Given the description of an element on the screen output the (x, y) to click on. 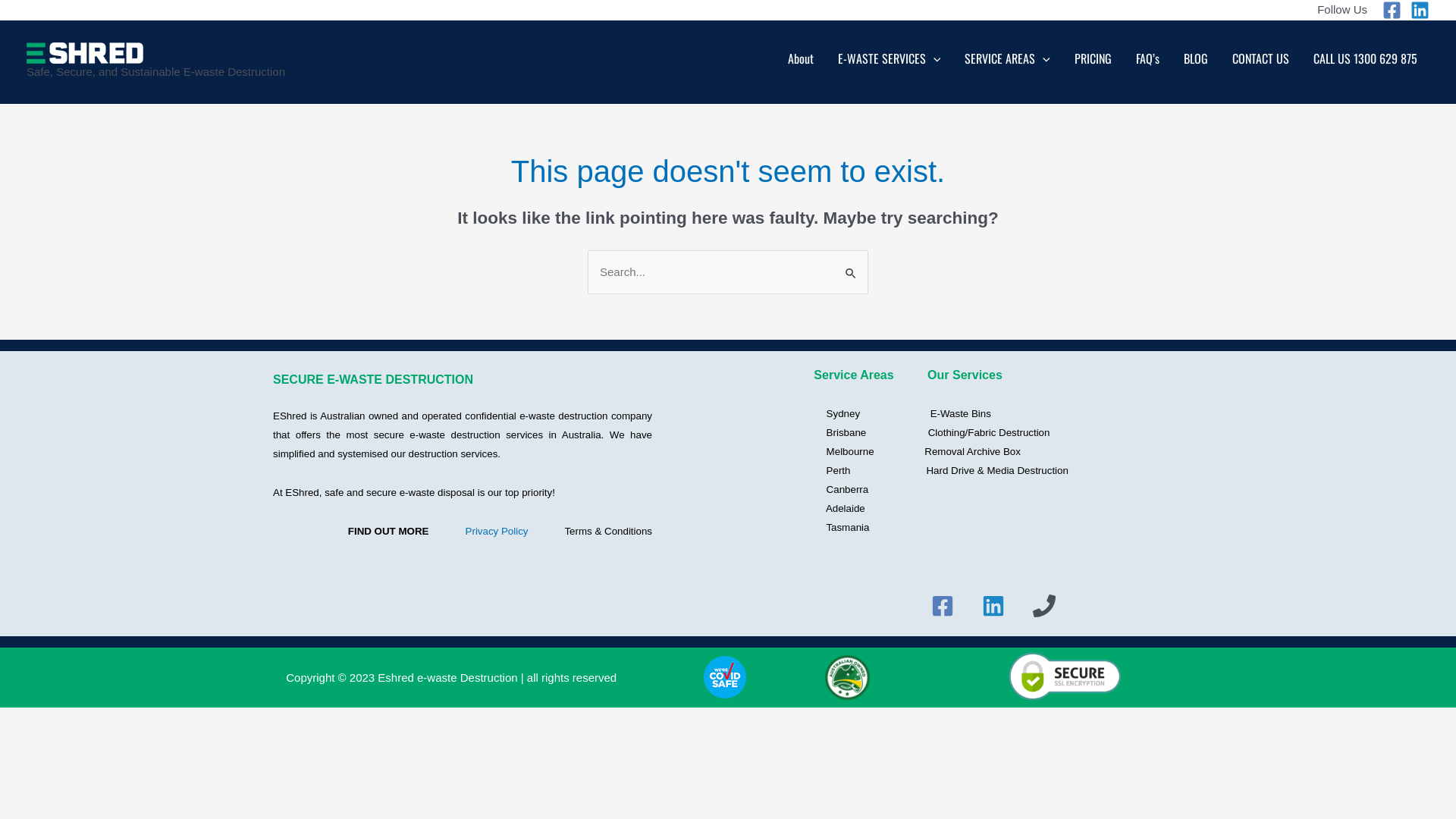
        Adelaide  Element type: text (835, 508)
E-WASTE SERVICES Element type: text (889, 61)
Hard Drive & Media Destruction Element type: text (996, 470)
        Tasmania Element type: text (836, 527)
E-Waste Bins Element type: text (960, 413)
CALL US 1300 629 875 Element type: text (1365, 61)
Removal Archive Box  Element type: text (973, 451)
Privacy Policy Element type: text (496, 530)
PRICING Element type: text (1092, 61)
CONTACT US Element type: text (1260, 61)
Clothing/Fabric Destruction Element type: text (989, 432)
        Sydney Element type: text (831, 413)
        Brisbane Element type: text (834, 432)
Terms & Conditions Element type: text (608, 530)
        Canberra  Element type: text (837, 489)
        Perth Element type: text (826, 470)
About Element type: text (800, 61)
        Melbourne Element type: text (838, 451)
BLOG Element type: text (1195, 61)
SERVICE AREAS Element type: text (1007, 61)
FIND OUT MORE Element type: text (388, 530)
Search Element type: text (851, 265)
